Given the description of an element on the screen output the (x, y) to click on. 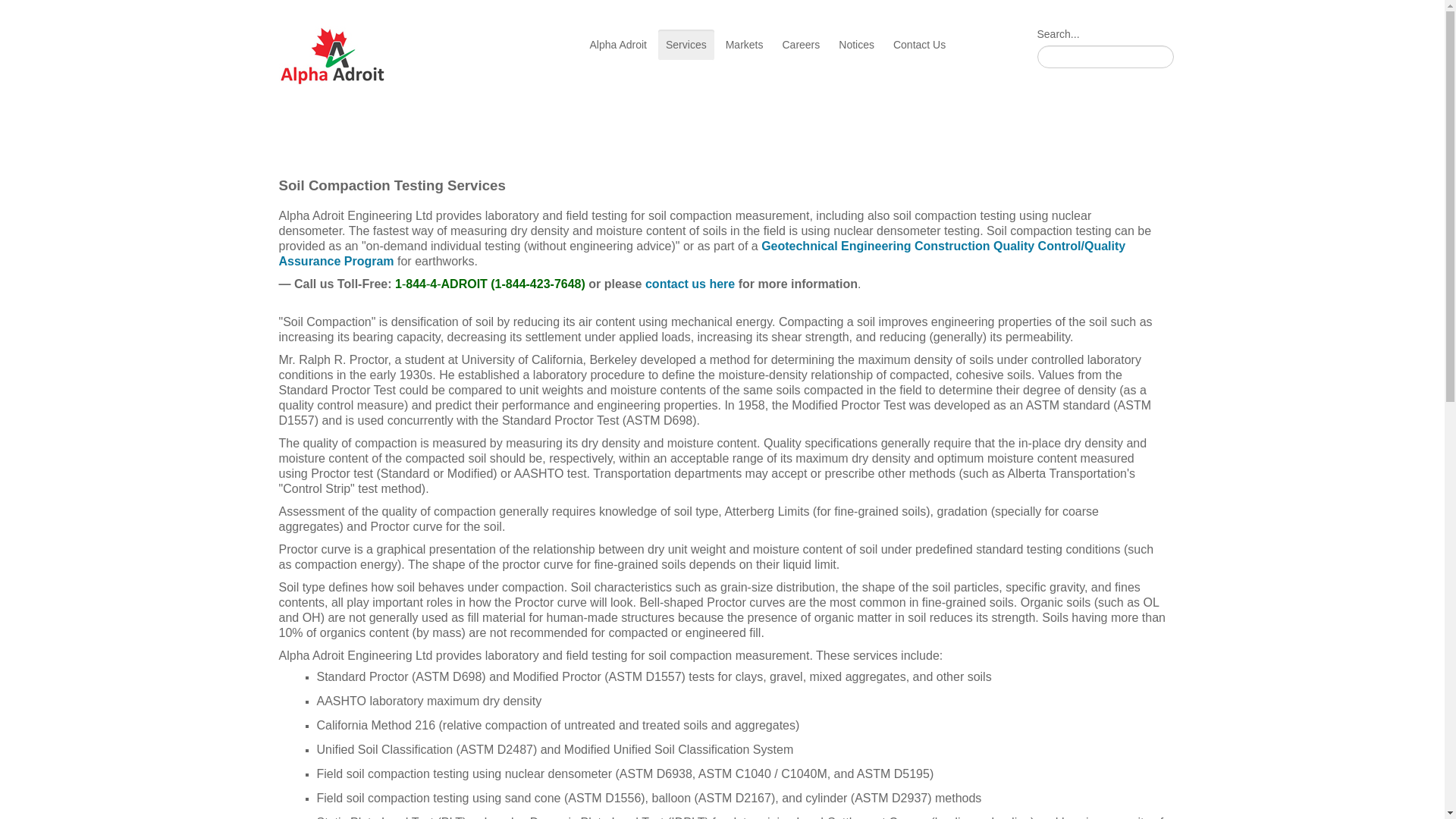
Markets Element type: text (744, 44)
Notices Element type: text (856, 44)
Careers Element type: text (800, 44)
Services Element type: text (686, 44)
Alpha Adroit Element type: text (618, 44)
contact us here Element type: text (689, 283)
Contact Us Element type: text (919, 44)
